Given the description of an element on the screen output the (x, y) to click on. 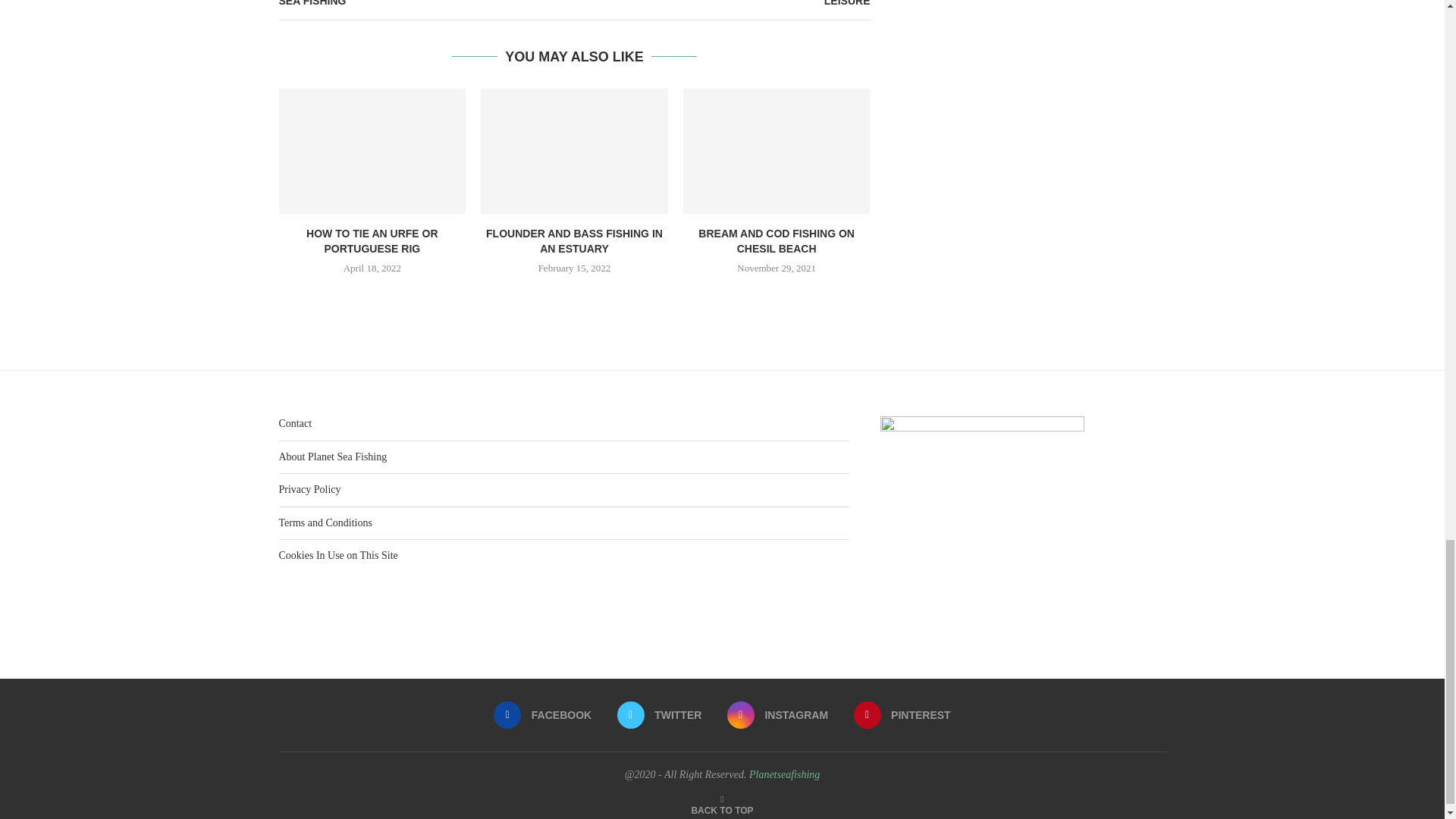
Bream And Cod Fishing On Chesil Beach (776, 150)
Flounder and Bass Fishing in an Estuary (574, 150)
How to tie an Urfe or Portuguese Rig (372, 150)
